Given the description of an element on the screen output the (x, y) to click on. 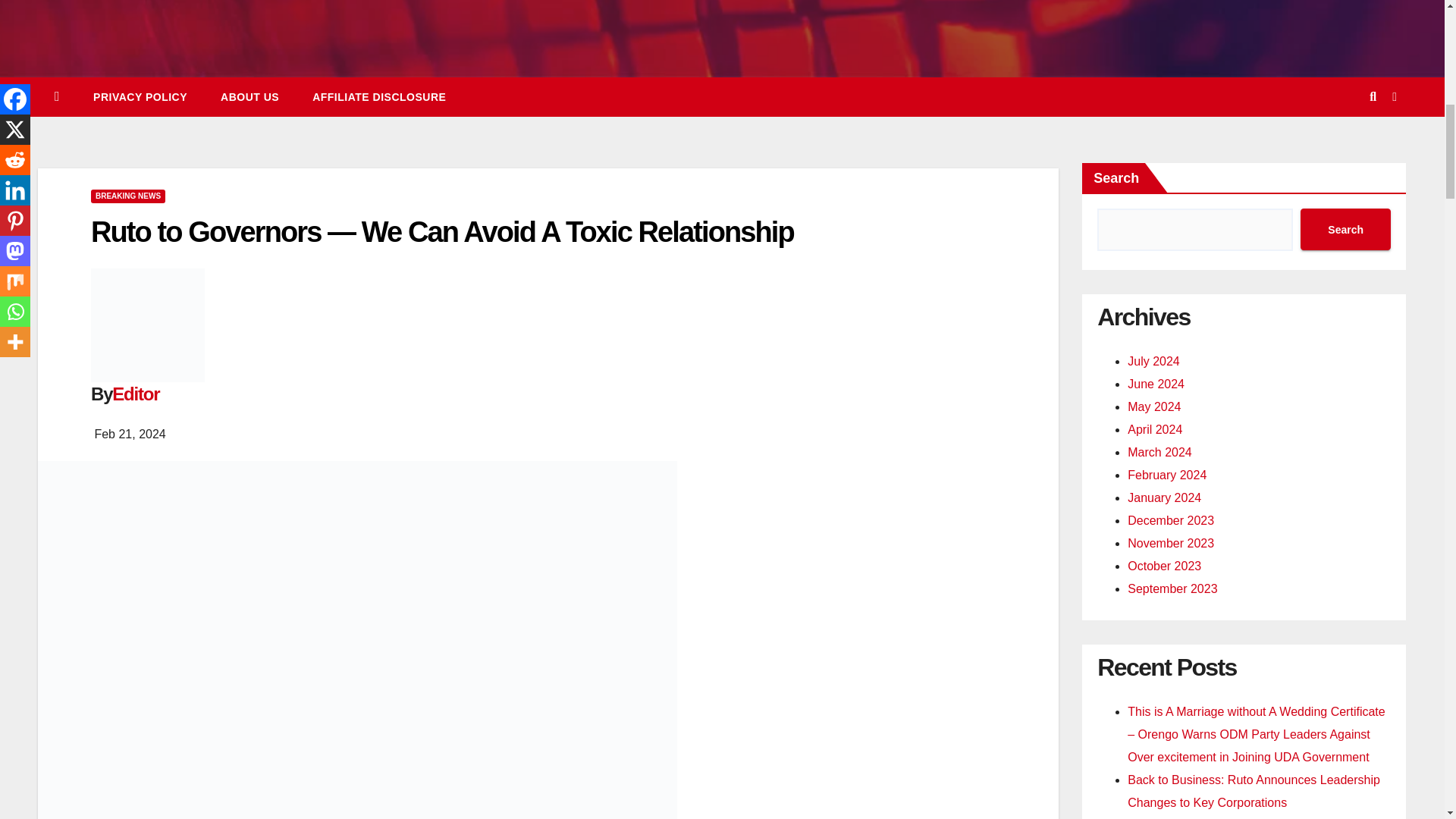
AFFILIATE DISCLOSURE (379, 96)
PRIVACY POLICY (140, 96)
PRIVACY POLICY (140, 96)
Affiliate Disclosure (379, 96)
ABOUT US (249, 96)
BREAKING NEWS (127, 196)
Editor (135, 394)
ABOUT US (249, 96)
